Given the description of an element on the screen output the (x, y) to click on. 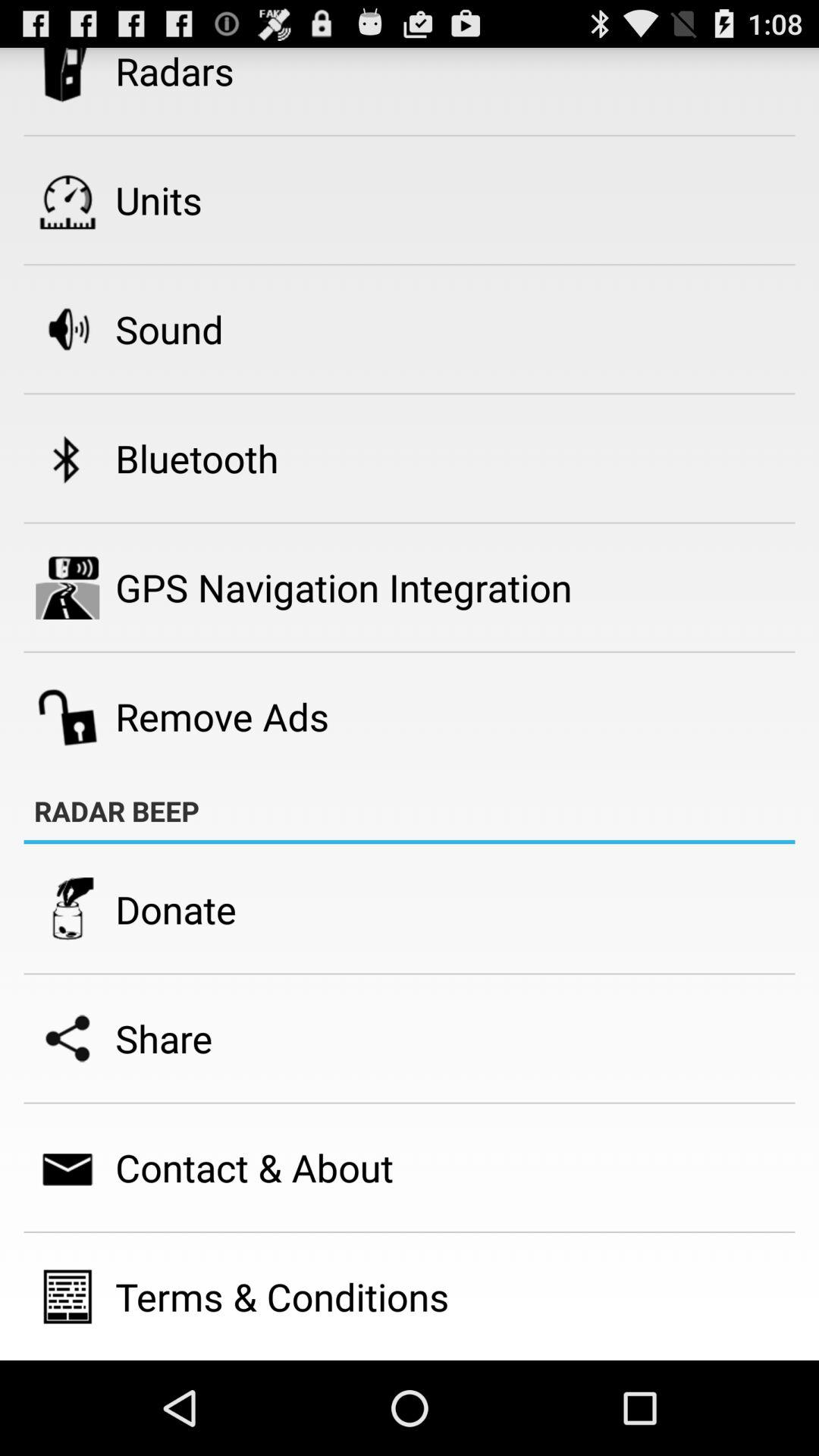
press the app at the bottom (282, 1296)
